Given the description of an element on the screen output the (x, y) to click on. 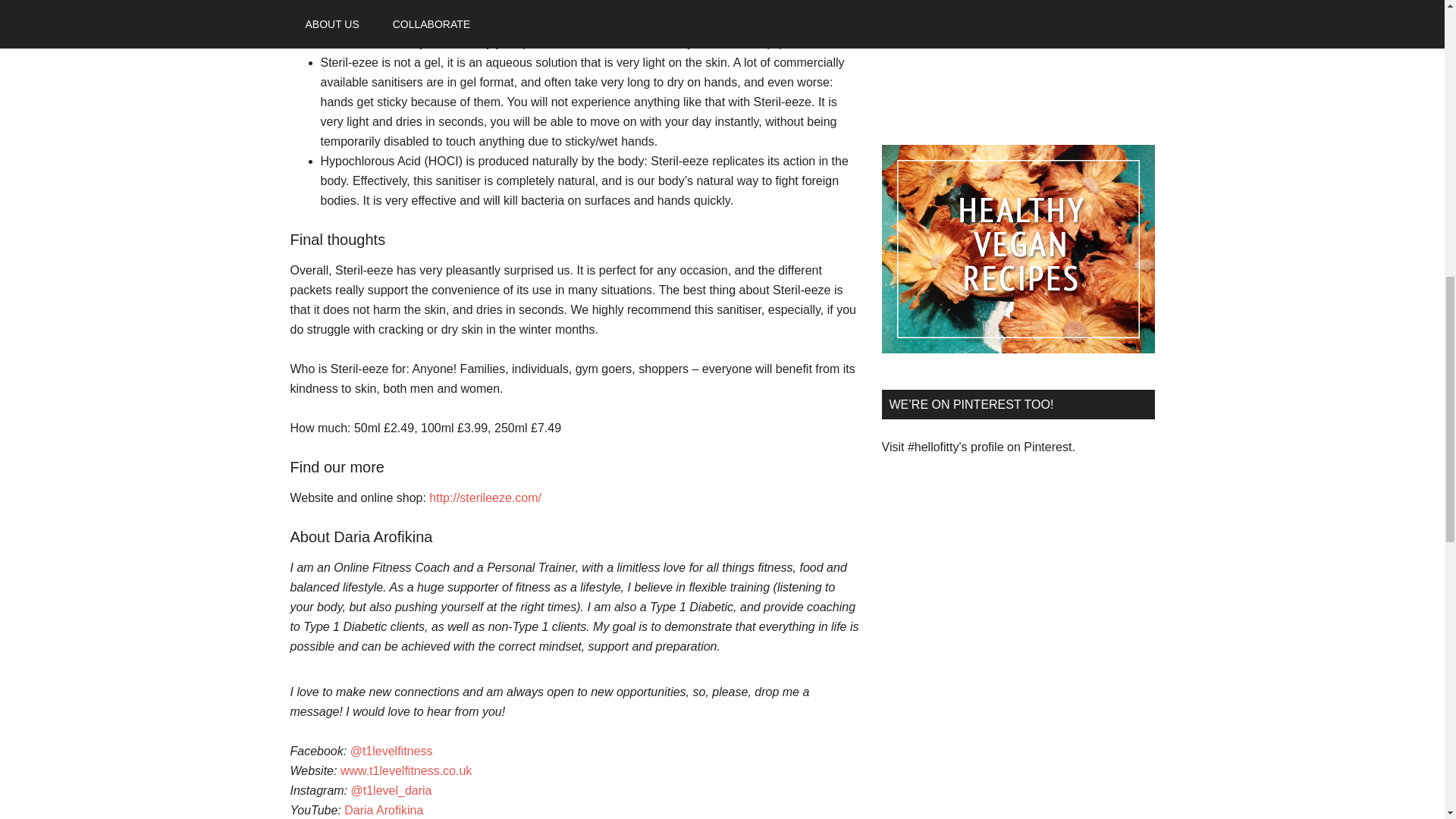
www.t1levelfitness.co.uk (405, 770)
Advertisement (1017, 32)
rofikina (403, 809)
Daria A (363, 809)
